Given the description of an element on the screen output the (x, y) to click on. 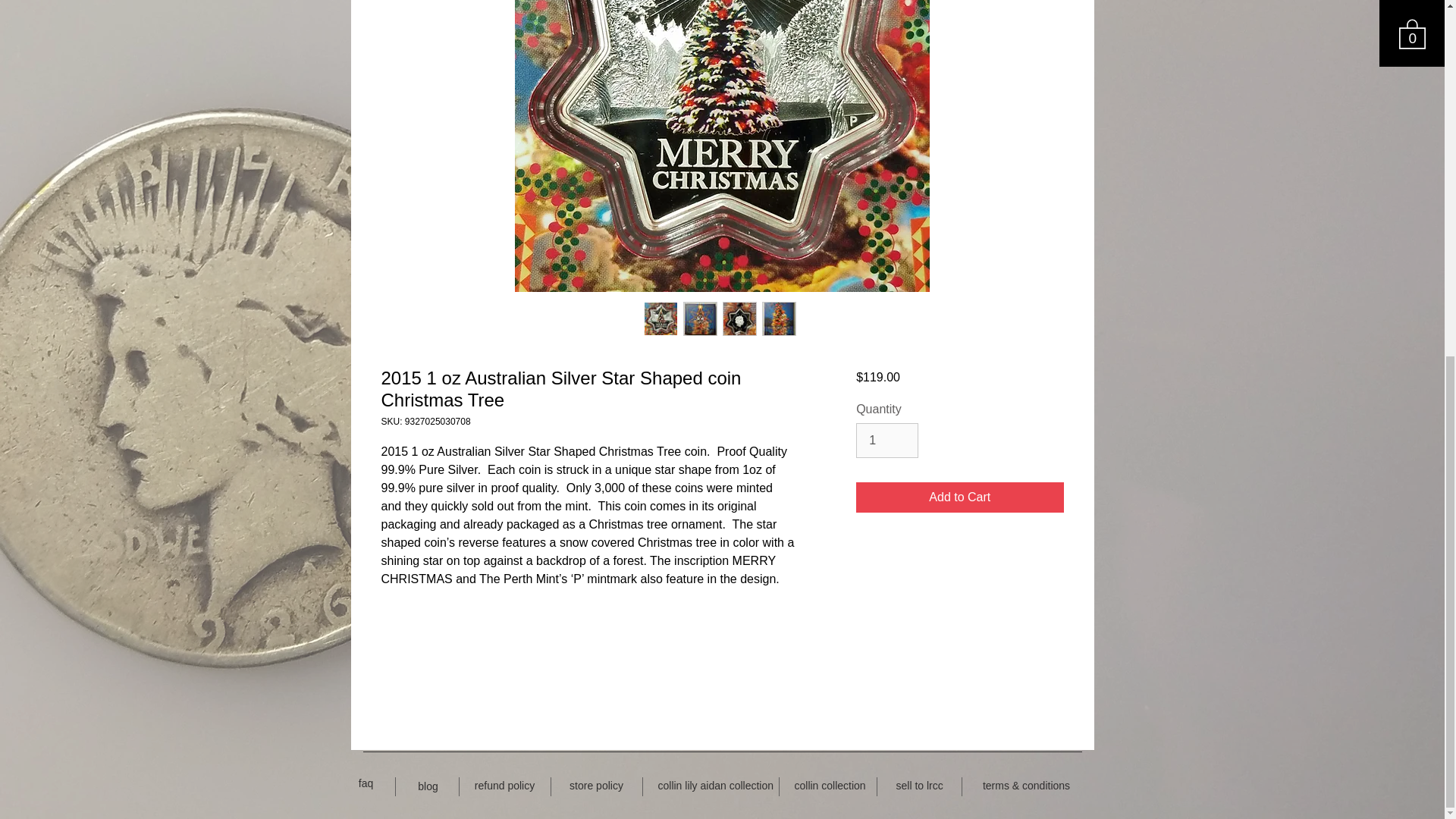
store policy (595, 786)
Add to Cart (959, 497)
1 (887, 440)
collin collection (830, 786)
faq (365, 783)
collin lily aidan collection (716, 786)
blog (427, 787)
sell to lrcc (919, 786)
refund policy (504, 786)
